Given the description of an element on the screen output the (x, y) to click on. 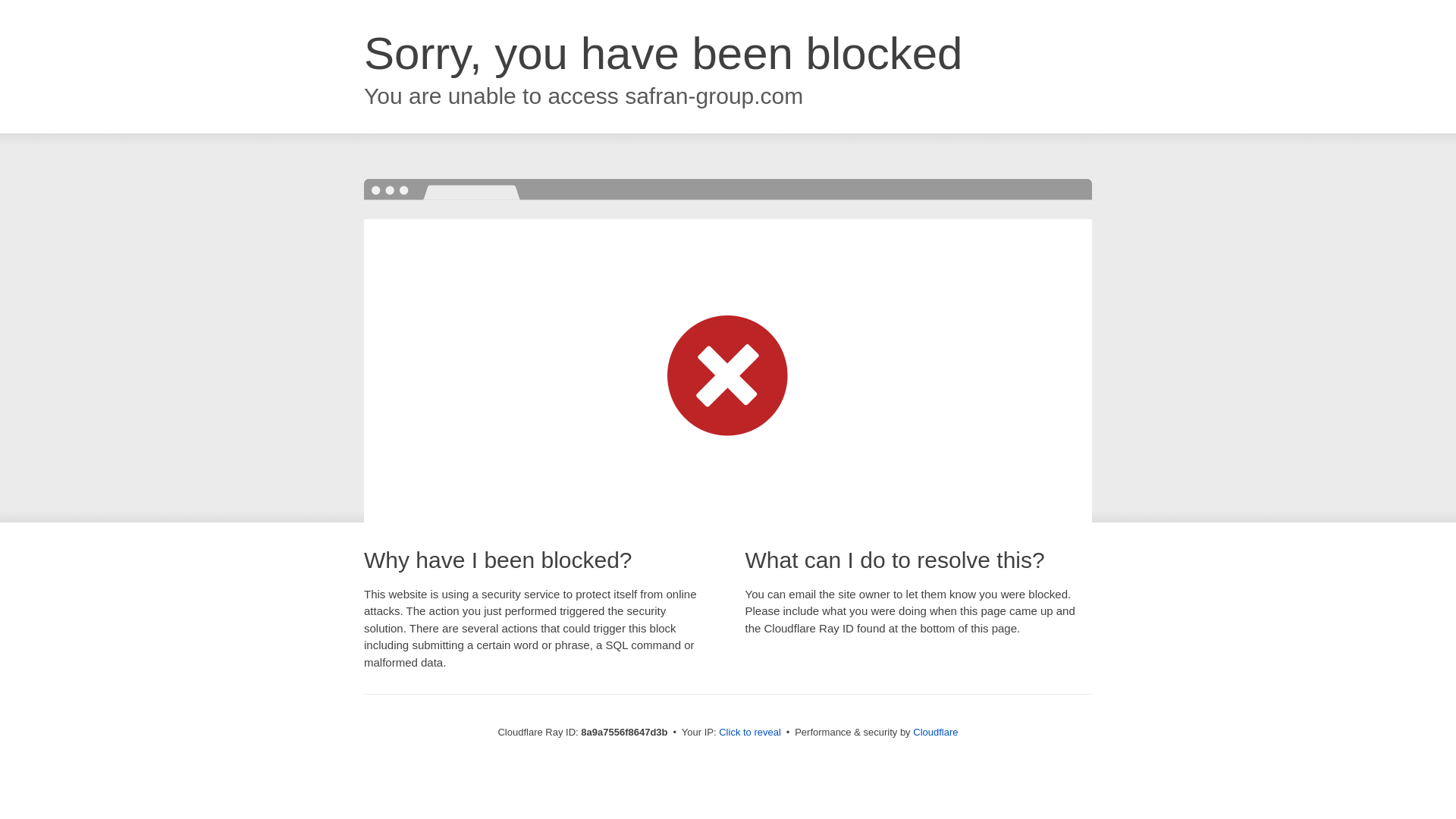
Click to reveal (749, 732)
Cloudflare (935, 731)
